Given the description of an element on the screen output the (x, y) to click on. 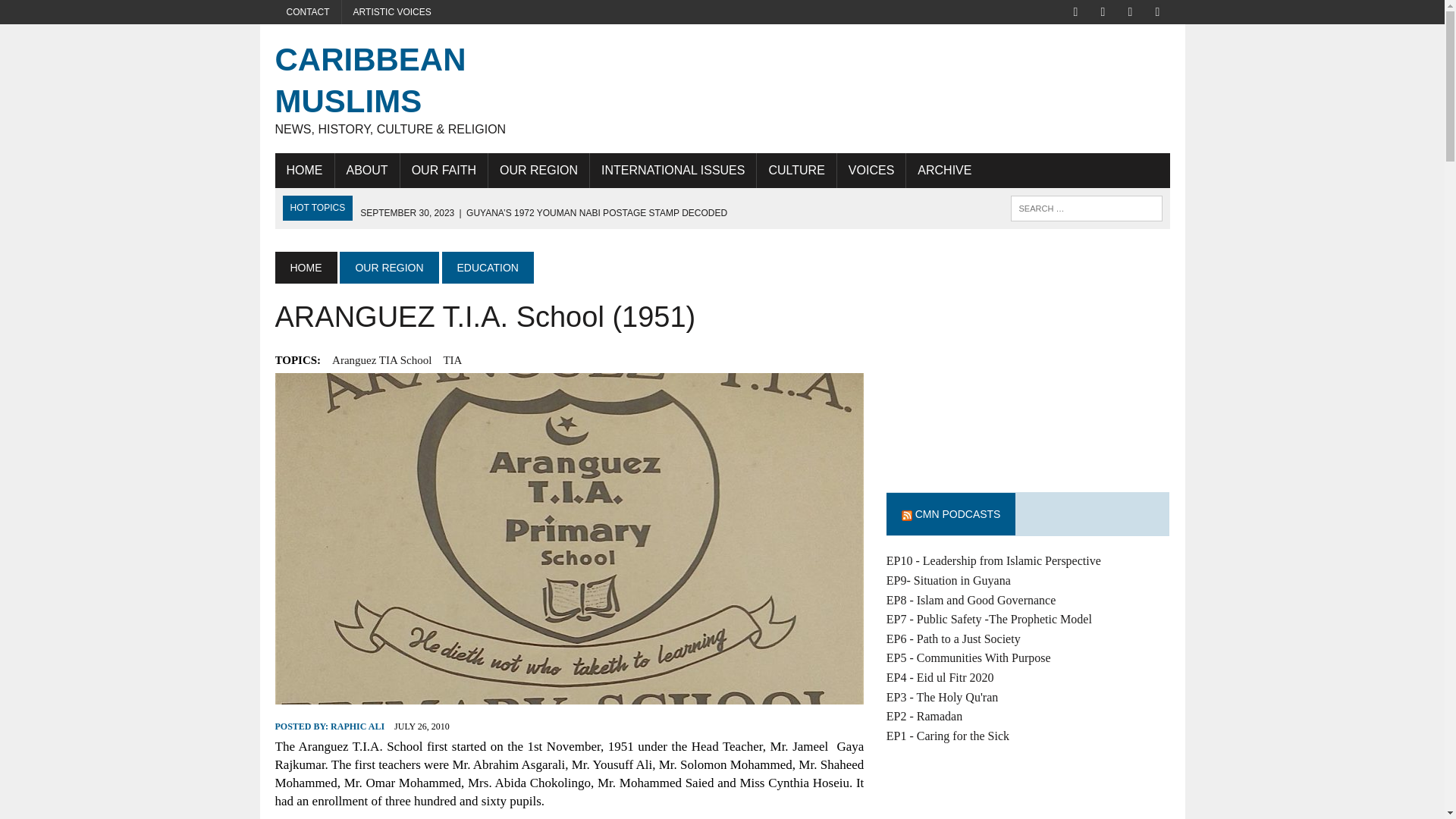
OUR FAITH (443, 170)
Aranguez TIA School (380, 360)
CULTURE (796, 170)
CONTACT (307, 12)
EDUCATION (488, 267)
Search (75, 14)
ABOUT (366, 170)
ARTISTIC VOICES (392, 12)
OUR REGION (538, 170)
Caribbean Muslims (416, 88)
